Given the description of an element on the screen output the (x, y) to click on. 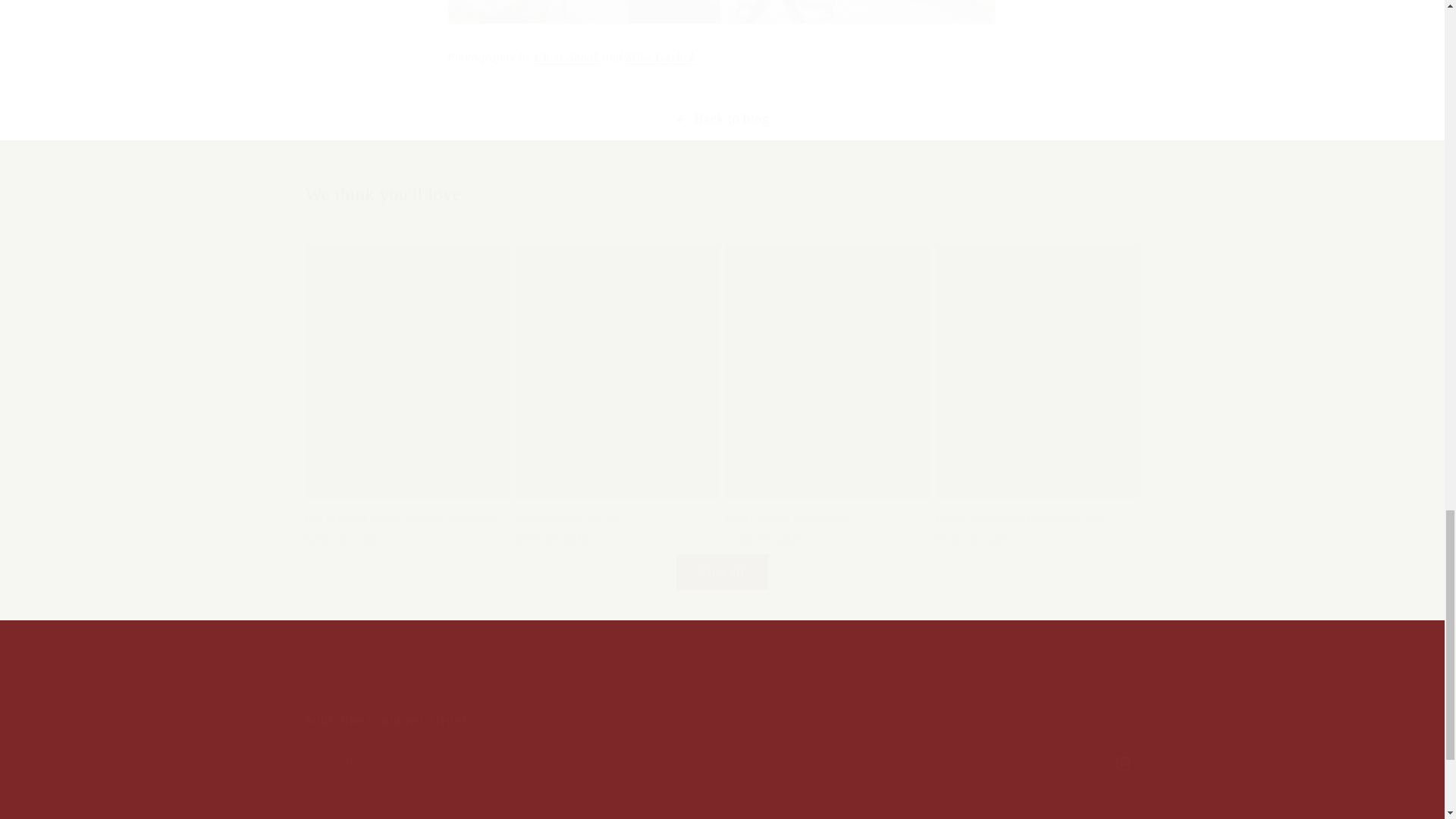
We think you'll love (721, 194)
Contact Trade Press Shipping Returns Terms Privacy (721, 691)
Contact Trade Press Shipping Returns Terms Privacy (721, 745)
